Given the description of an element on the screen output the (x, y) to click on. 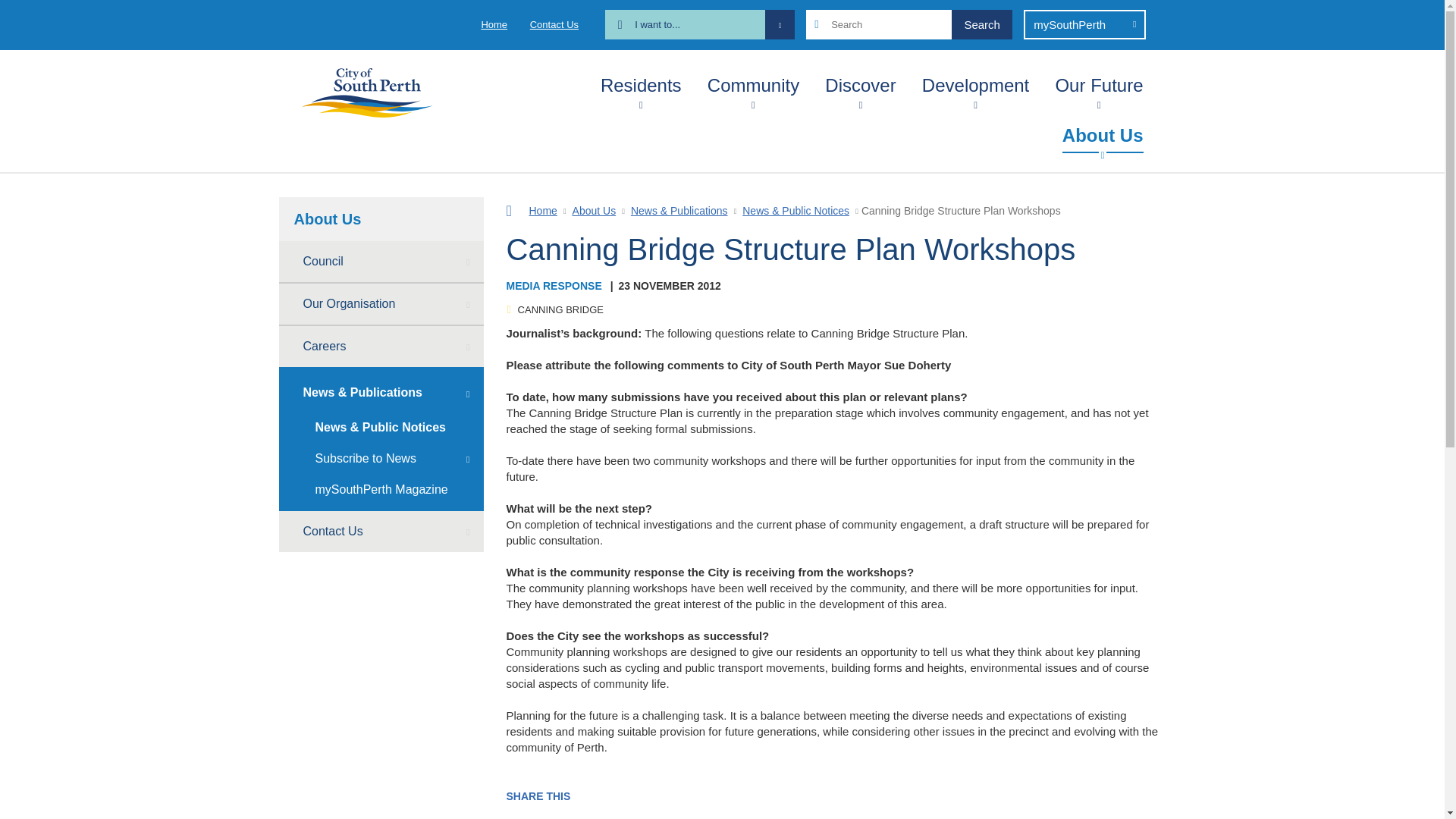
Home (493, 24)
Search (981, 24)
Residents (640, 82)
Search input (908, 24)
Contact Us (553, 24)
mySouthPerth (1084, 24)
